Given the description of an element on the screen output the (x, y) to click on. 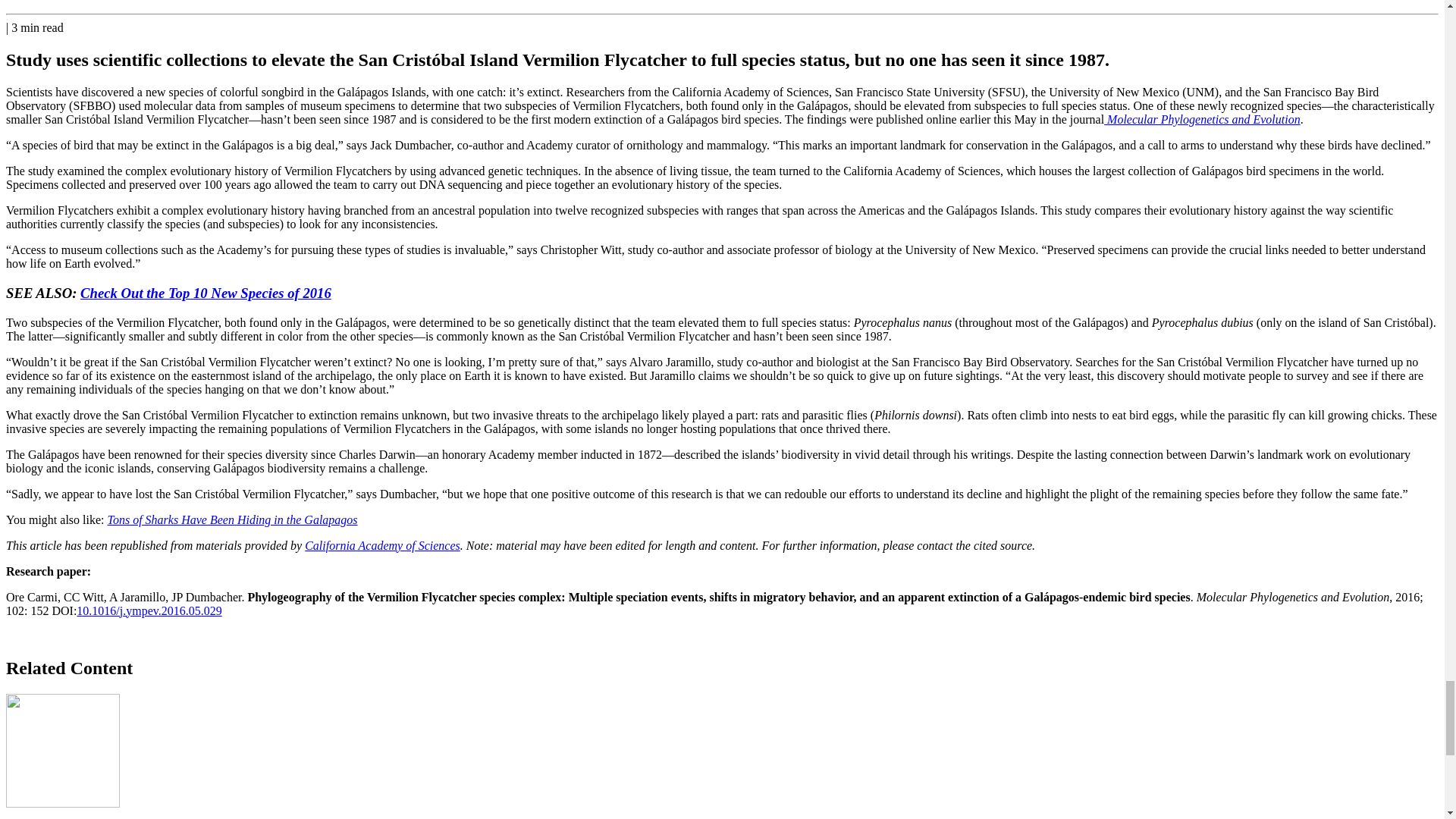
California Academy of Sciences (382, 545)
California Academy of Sciences (382, 545)
Check Out the Top 10 New Species of 2016 (205, 293)
Tons of Sharks Have Been Hiding in the Galapagos (232, 519)
Tons of Sharks Have Been Hiding in the Galapagos (232, 519)
Full Profile (62, 0)
Check Out the Top 10 New Species of 2016 (205, 293)
 Molecular Phylogenetics and Evolution (1201, 119)
